Given the description of an element on the screen output the (x, y) to click on. 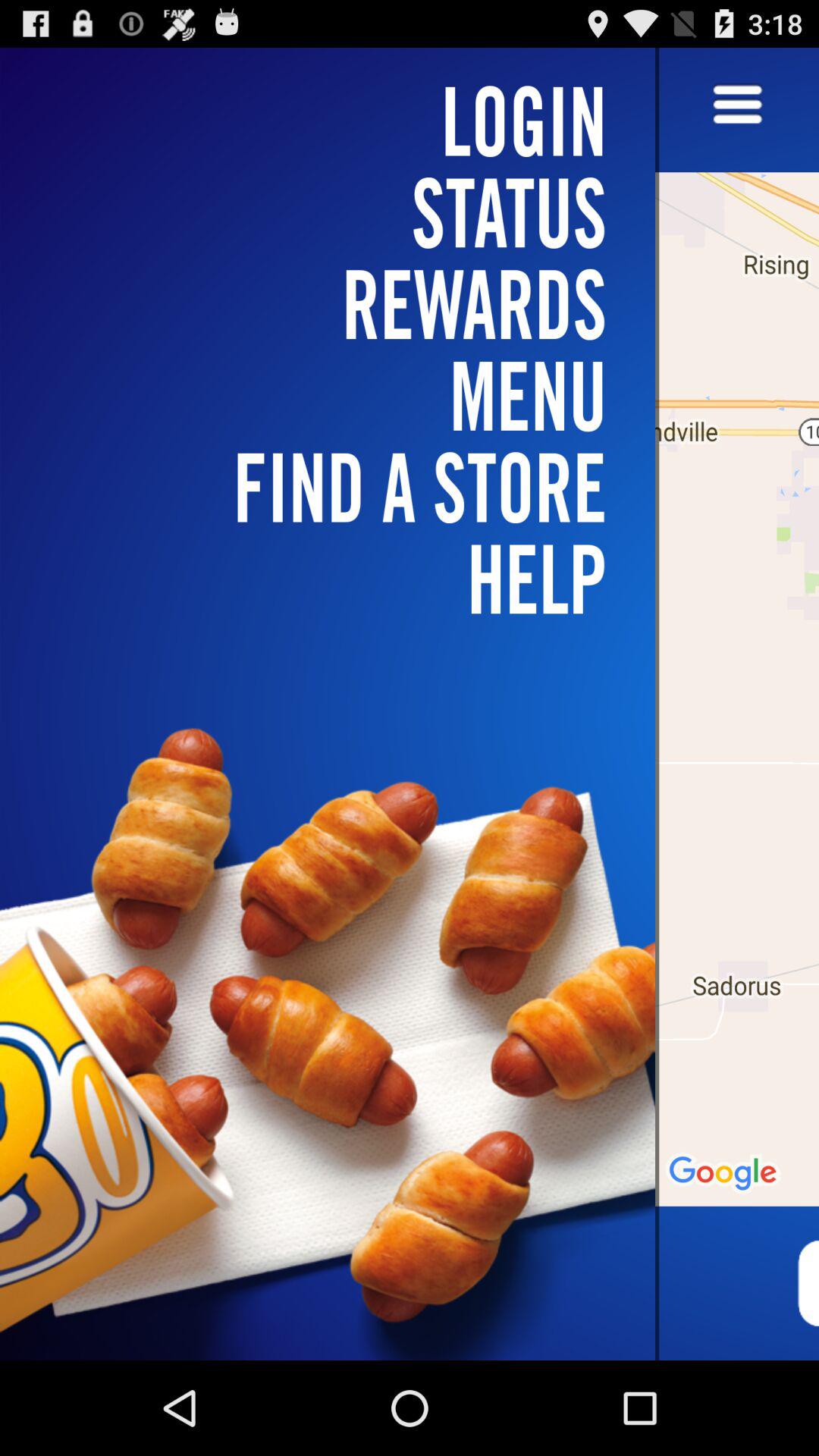
swipe to the login icon (336, 120)
